Given the description of an element on the screen output the (x, y) to click on. 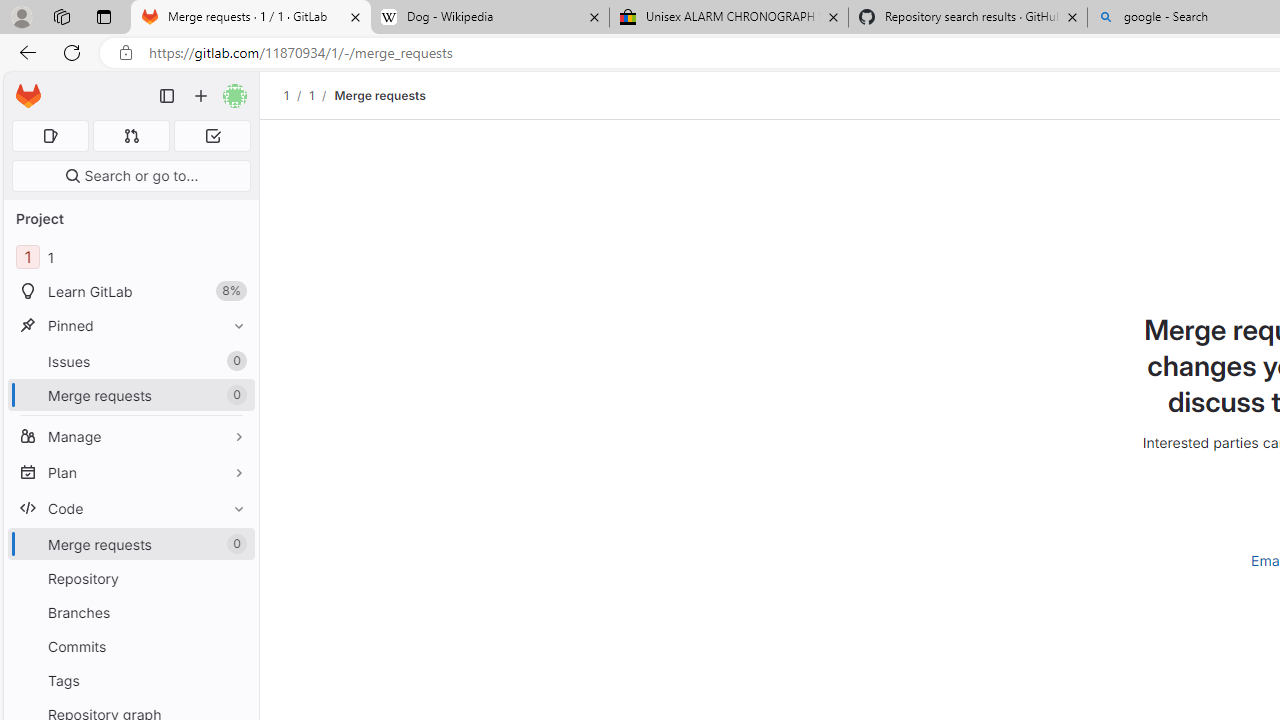
Branches (130, 612)
Tags (130, 679)
Pinned (130, 325)
Code (130, 507)
Commits (130, 646)
Learn GitLab8% (130, 291)
Branches (130, 612)
Plan (130, 471)
Learn GitLab 8% (130, 291)
Repository (130, 578)
Unpin Merge requests (234, 544)
Pin Commits (234, 646)
1 1 (130, 257)
